Given the description of an element on the screen output the (x, y) to click on. 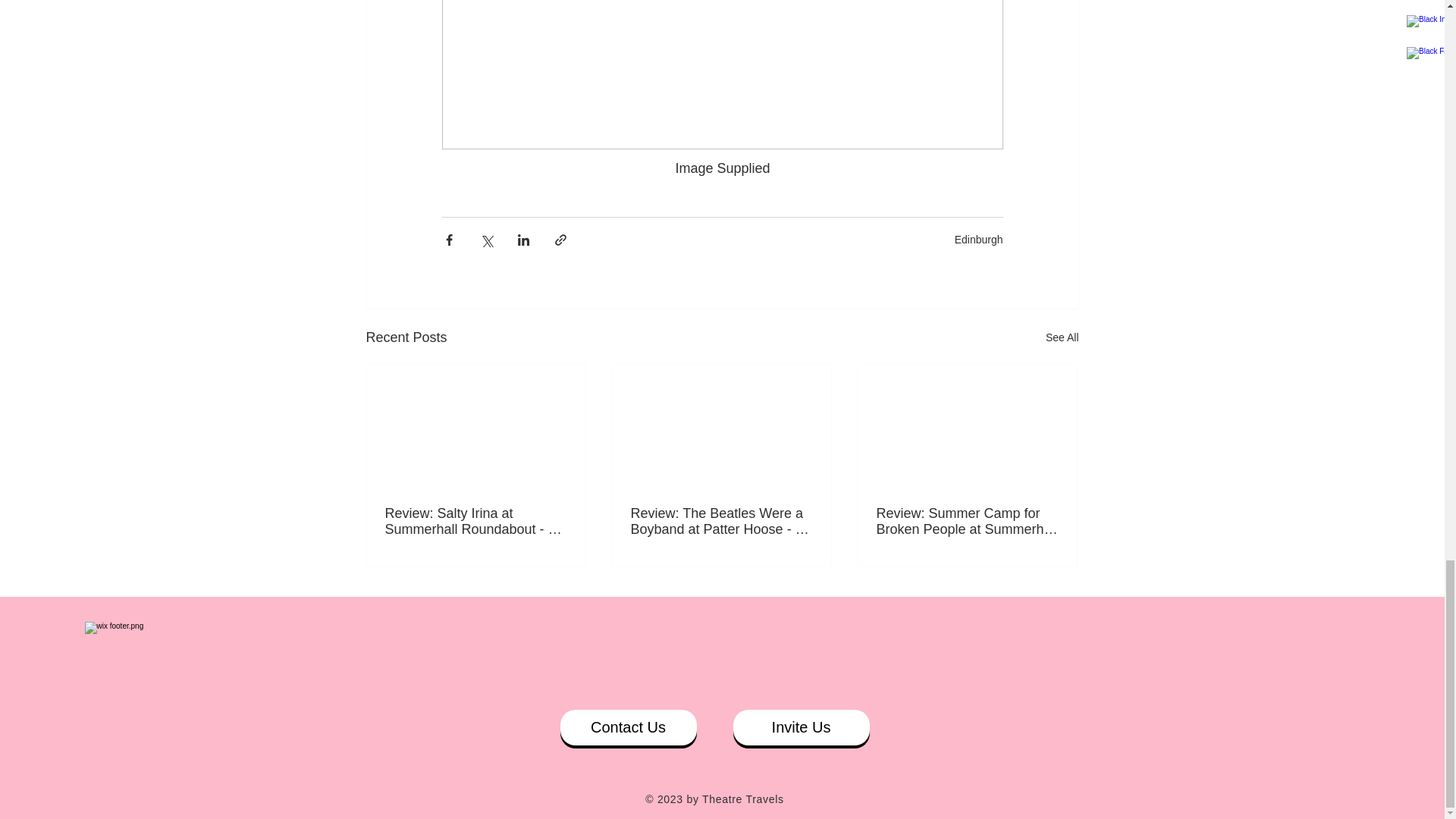
Invite Us (800, 727)
See All (1061, 337)
Contact Us (627, 727)
Edinburgh (979, 239)
Review: Salty Irina at Summerhall Roundabout - Ed Fringe (476, 521)
